Given the description of an element on the screen output the (x, y) to click on. 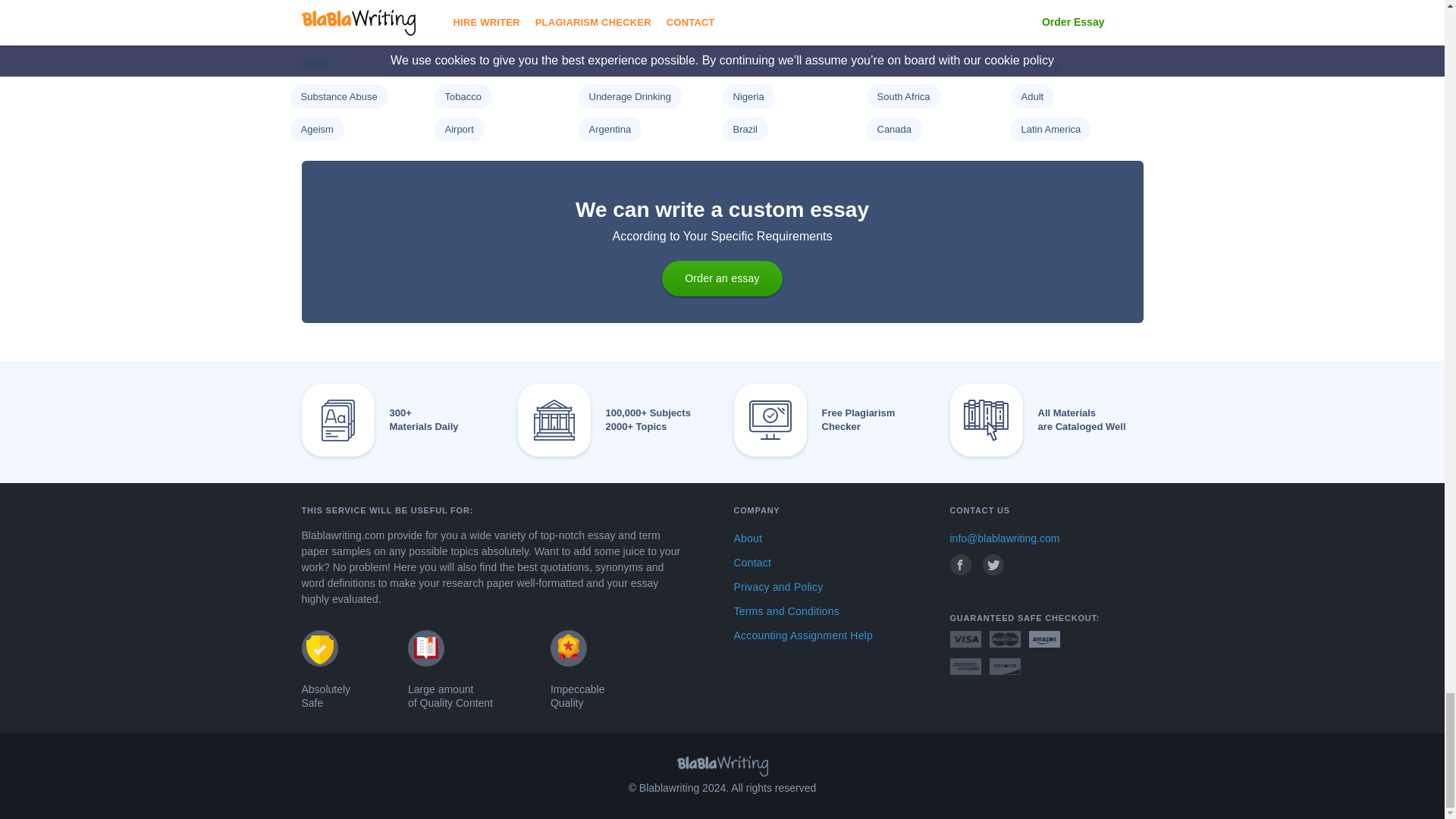
Cash (743, 2)
Balance Sheet (620, 2)
Audit (455, 2)
Socialism (320, 2)
